Given the description of an element on the screen output the (x, y) to click on. 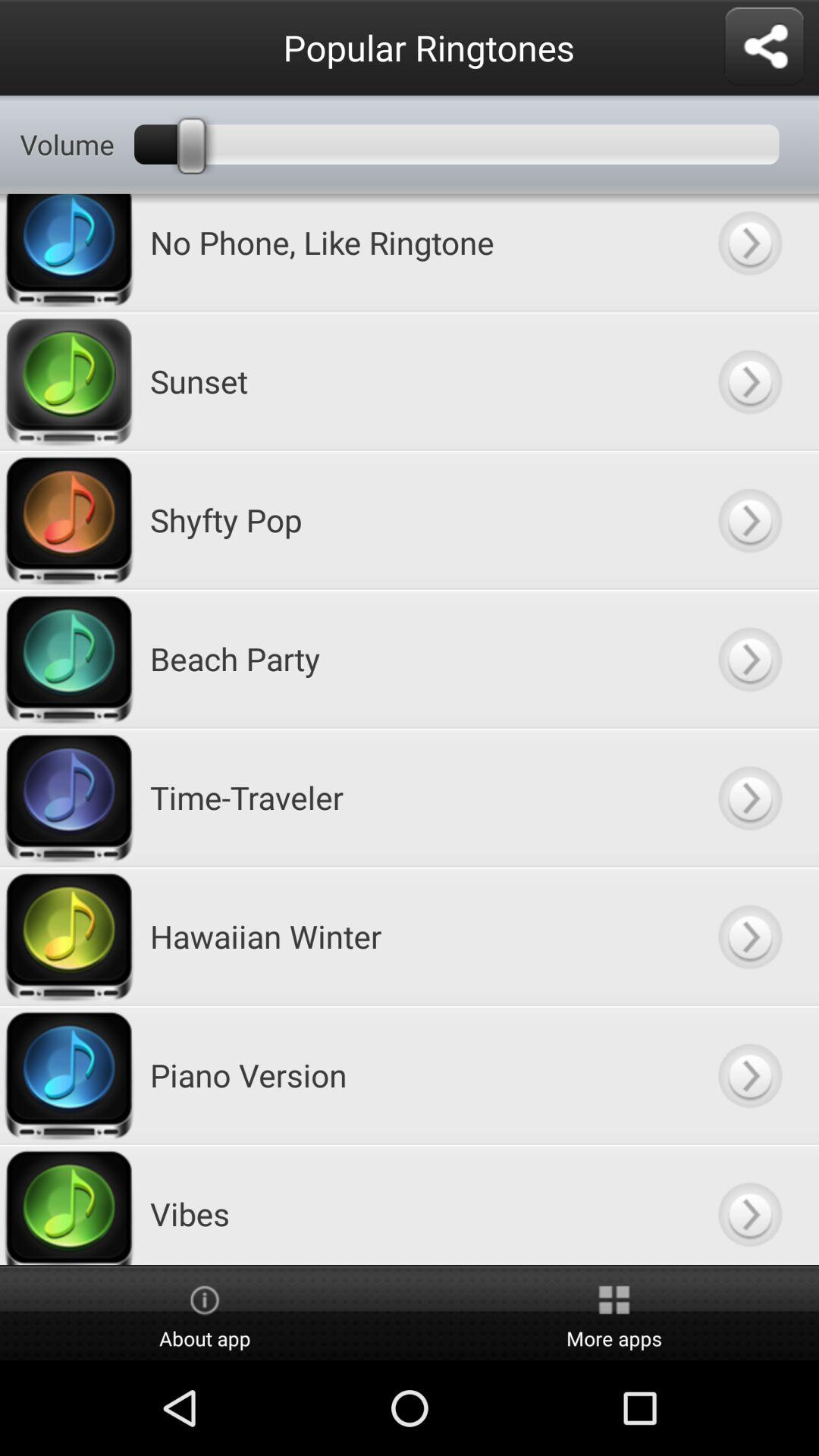
share the app (764, 47)
